Given the description of an element on the screen output the (x, y) to click on. 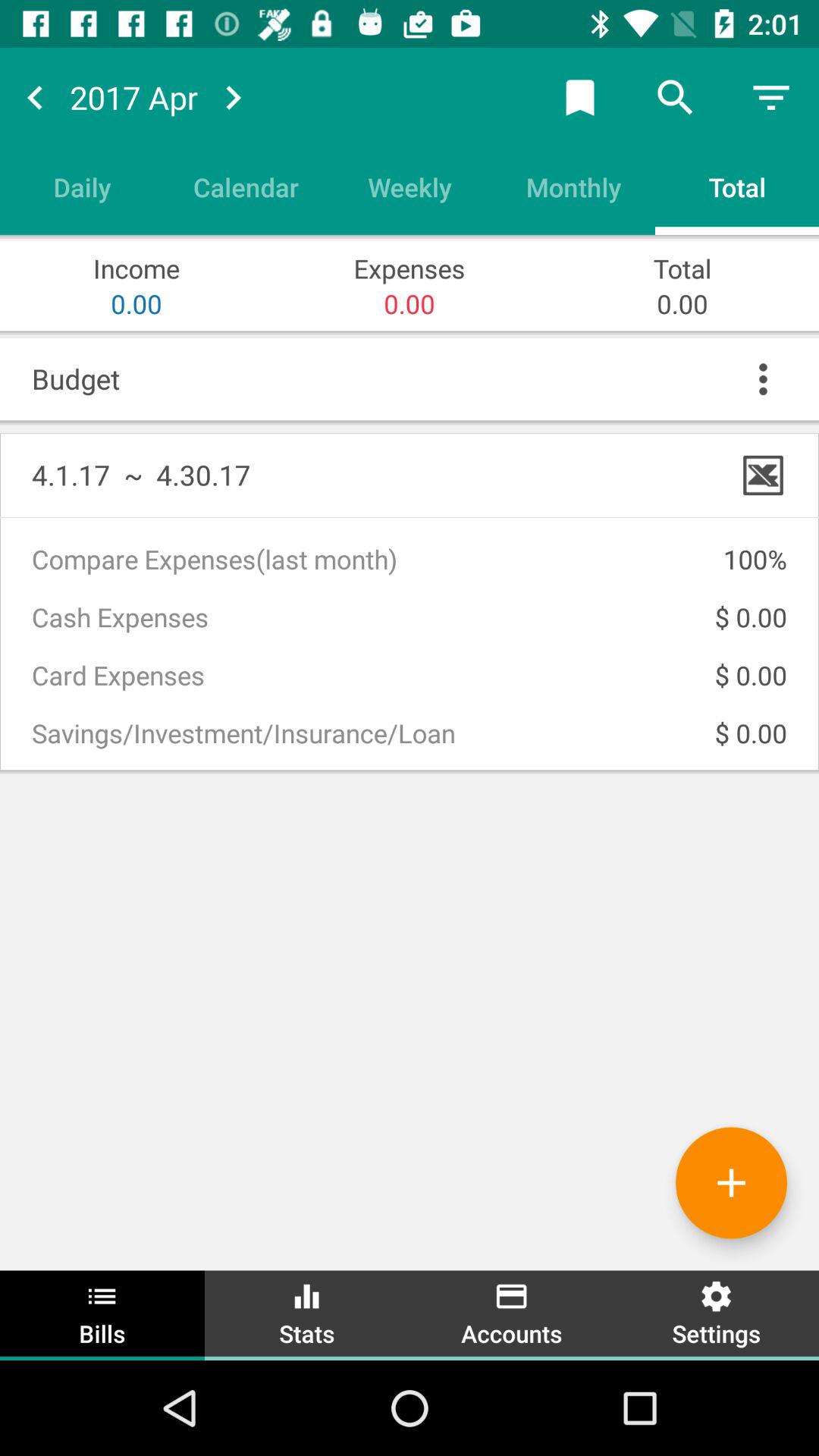
share (579, 97)
